Given the description of an element on the screen output the (x, y) to click on. 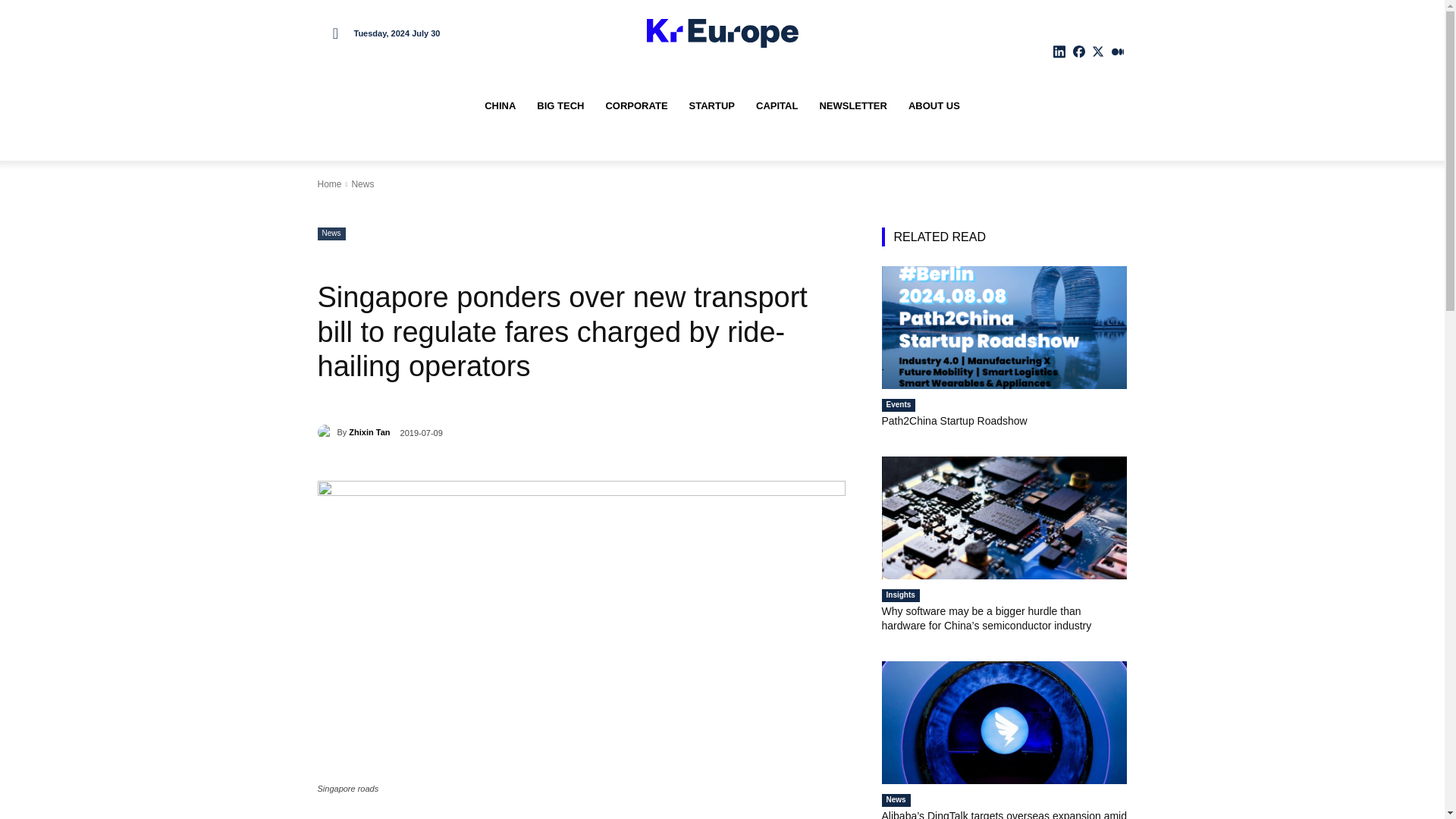
BIG TECH (559, 105)
CORPORATE (636, 105)
Home (328, 184)
CHINA (499, 105)
CAPITAL (776, 105)
NEWSLETTER (853, 105)
News (331, 233)
View all posts in News (362, 184)
News (362, 184)
STARTUP (711, 105)
ABOUT US (934, 105)
Zhixin Tan (326, 432)
Zhixin Tan (369, 431)
